Given the description of an element on the screen output the (x, y) to click on. 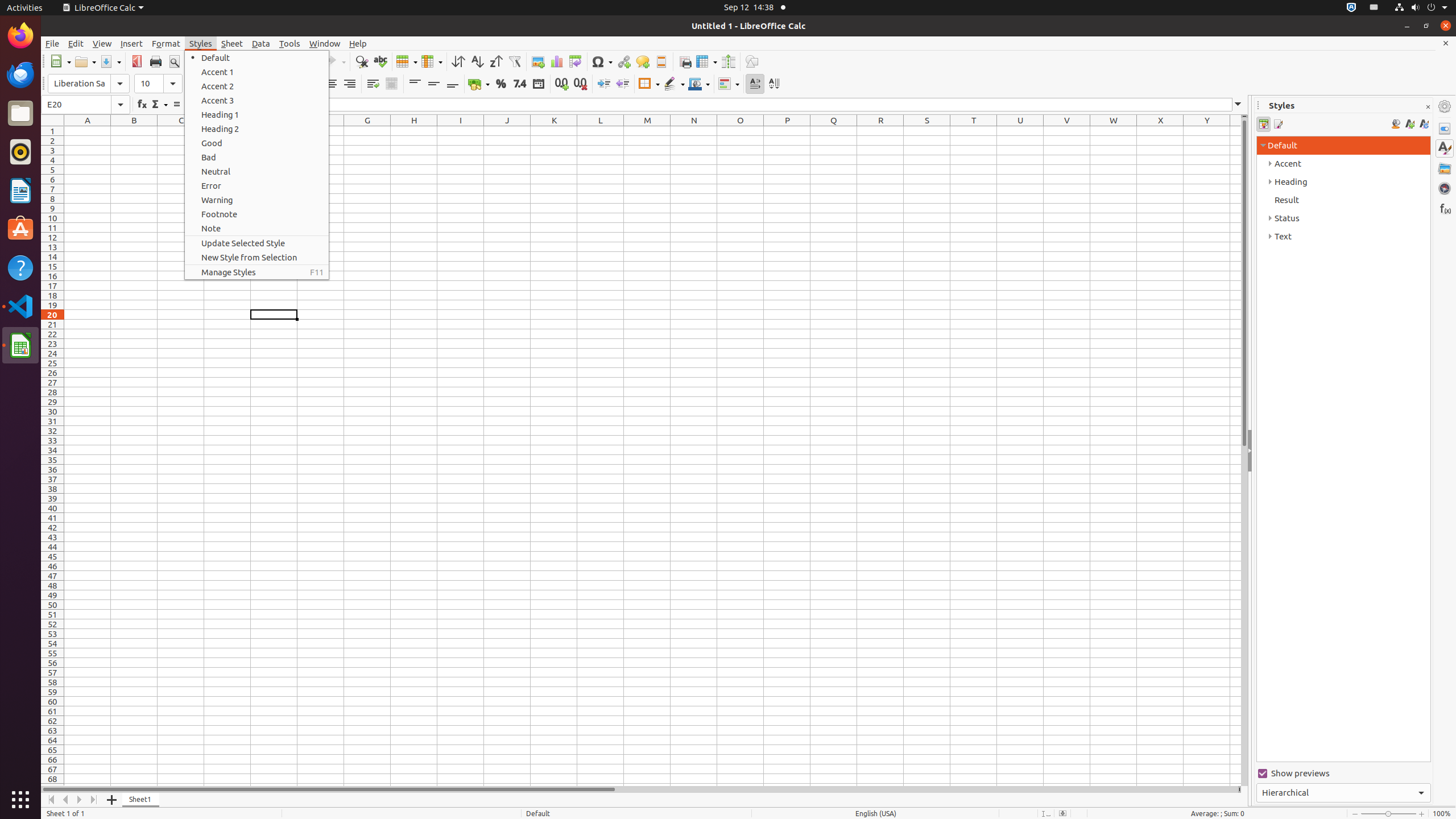
Pivot Table Element type: push-button (574, 61)
Horizontal scroll bar Element type: scroll-bar (639, 789)
Move Right Element type: push-button (79, 799)
Headers and Footers Element type: push-button (660, 61)
Manage Styles Element type: menu-item (256, 272)
